Given the description of an element on the screen output the (x, y) to click on. 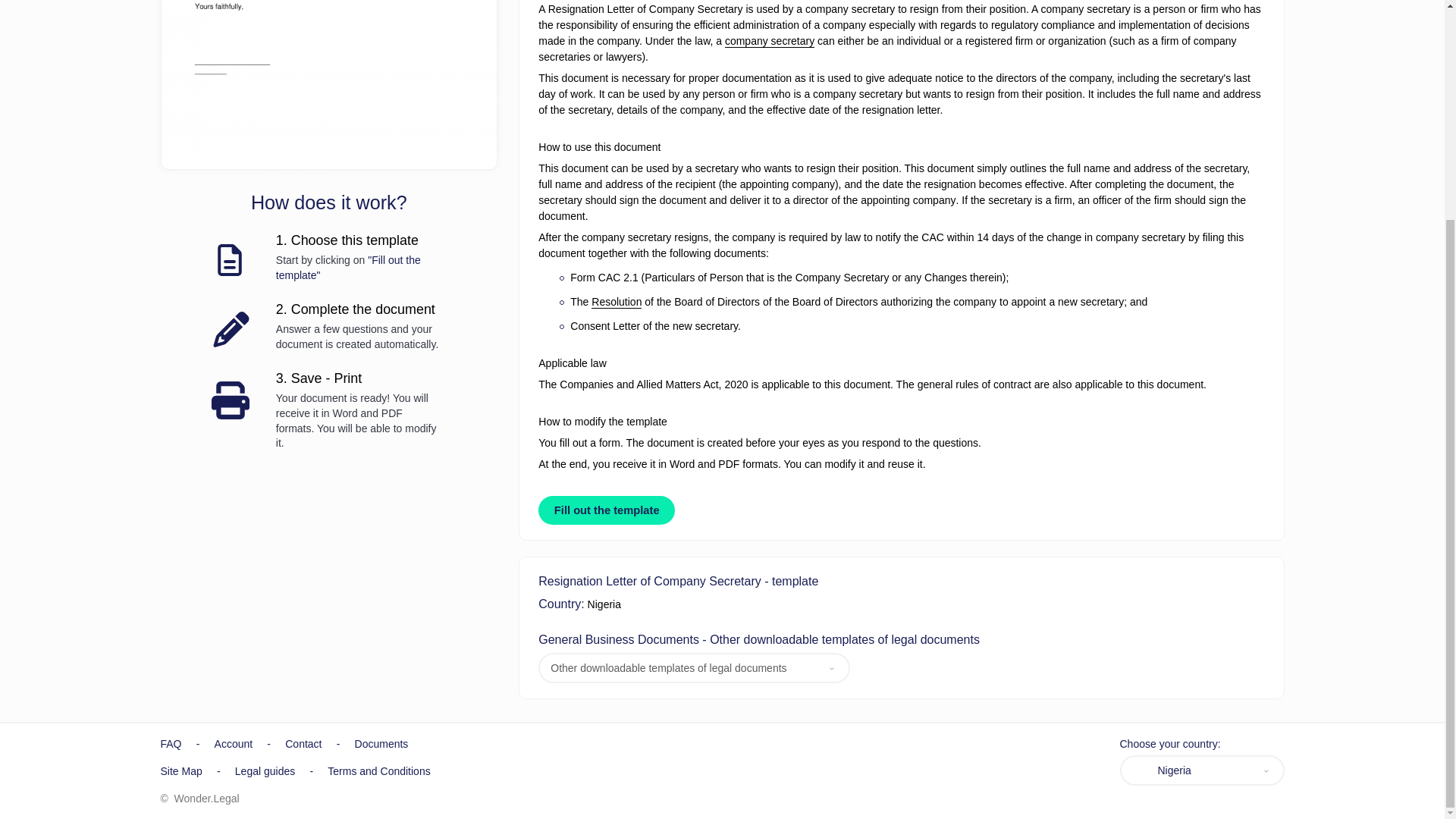
Who Can Act as Company Secretary? (769, 41)
Resolution of a Company or Board of Directors (616, 301)
Get started for free (328, 84)
Fill out the template (606, 510)
company secretary (769, 41)
"Fill out the template" (348, 267)
Resolution (616, 301)
